Given the description of an element on the screen output the (x, y) to click on. 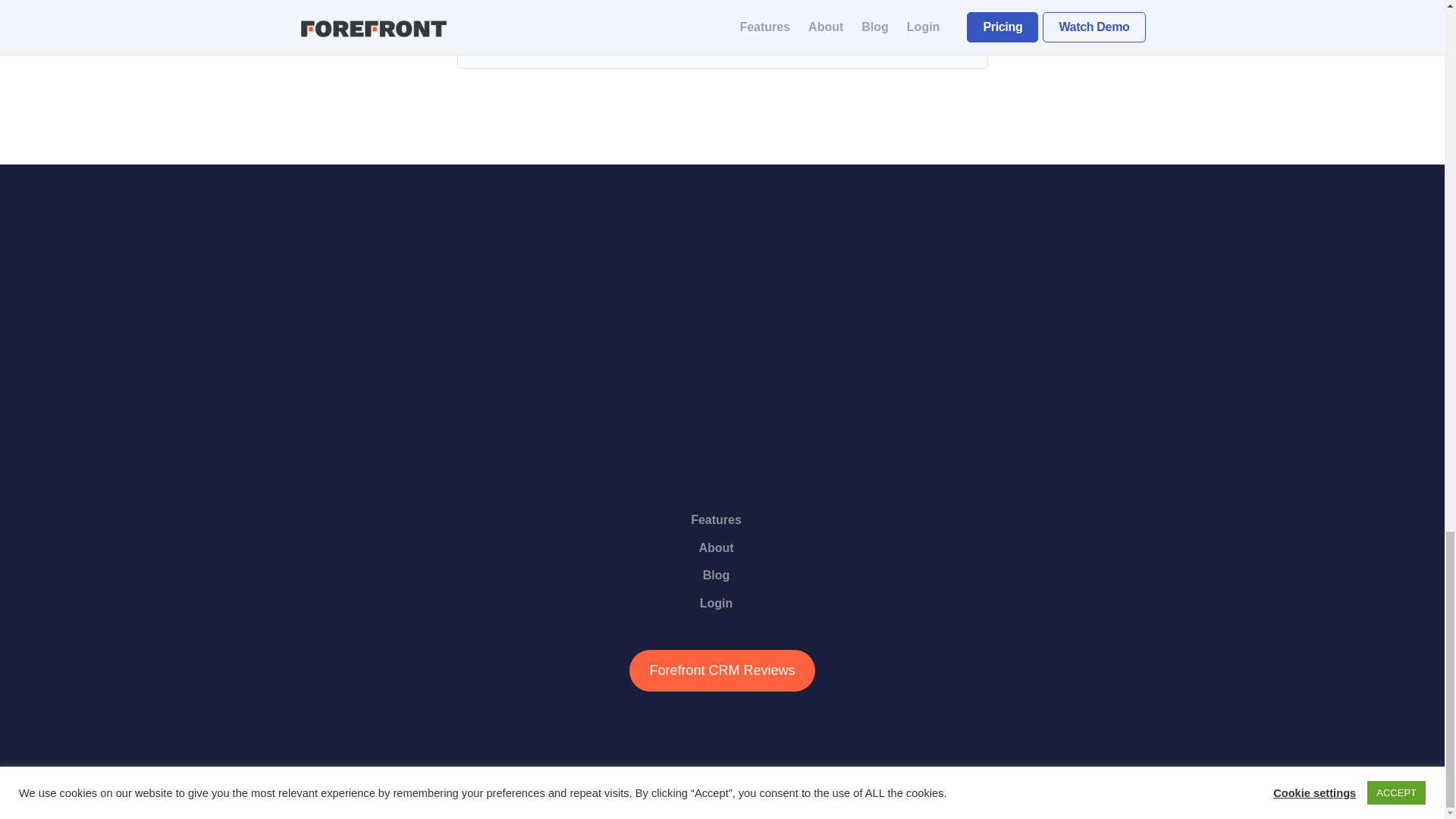
Features (721, 523)
Blog (721, 578)
Login (721, 606)
About (721, 550)
Privacy Policy (746, 774)
Terms of Service (820, 774)
Forefront CRM Reviews (720, 670)
